Given the description of an element on the screen output the (x, y) to click on. 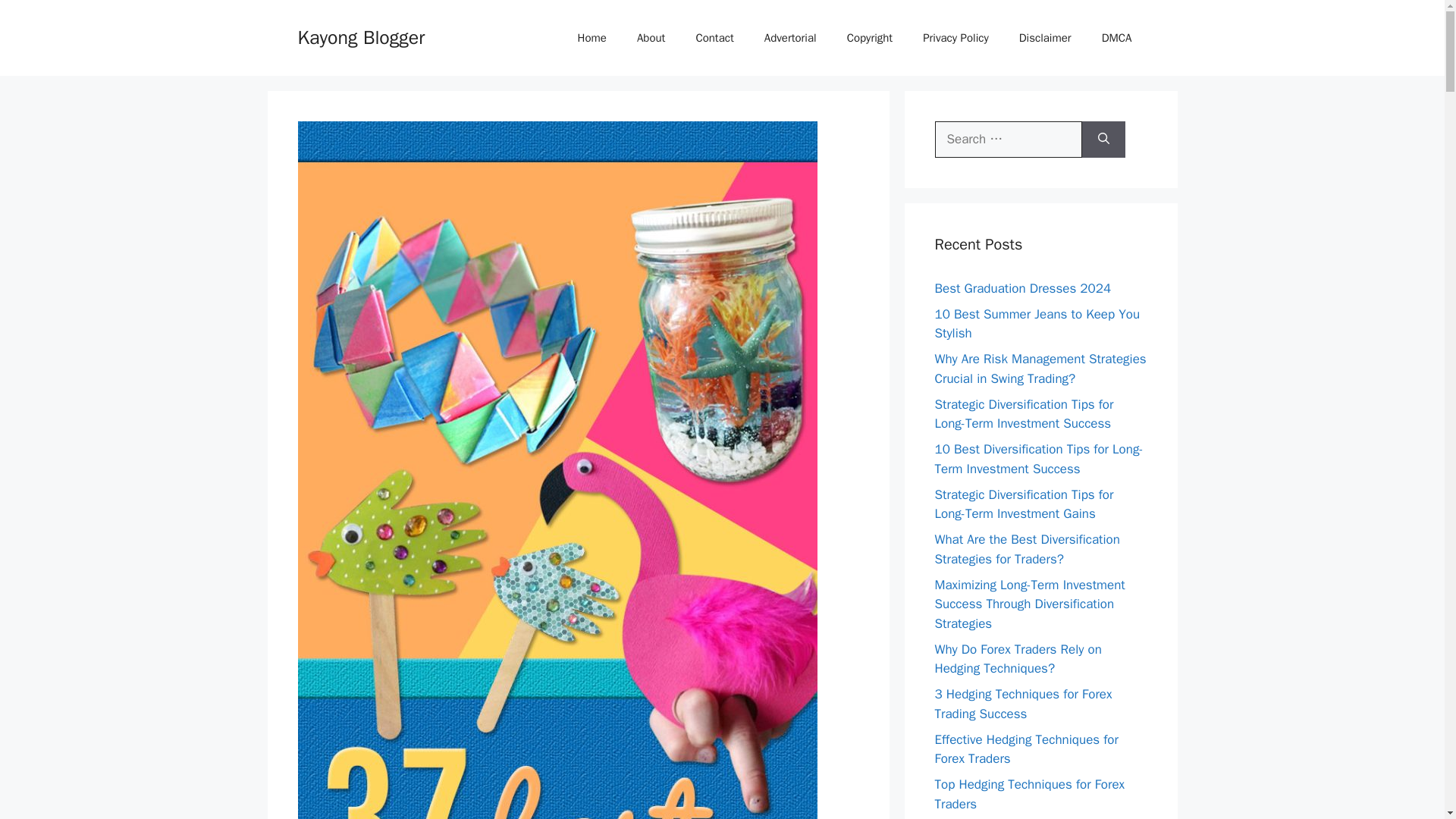
Home (591, 37)
Kayong Blogger (361, 37)
Search for: (1007, 139)
Copyright (869, 37)
Advertorial (790, 37)
Top Hedging Techniques for Forex Traders (1029, 794)
Why Do Forex Traders Rely on Hedging Techniques? (1017, 659)
Privacy Policy (955, 37)
10 Best Summer Jeans to Keep You Stylish (1037, 324)
DMCA (1116, 37)
Best Graduation Dresses 2024 (1022, 288)
Contact (713, 37)
About (650, 37)
